Given the description of an element on the screen output the (x, y) to click on. 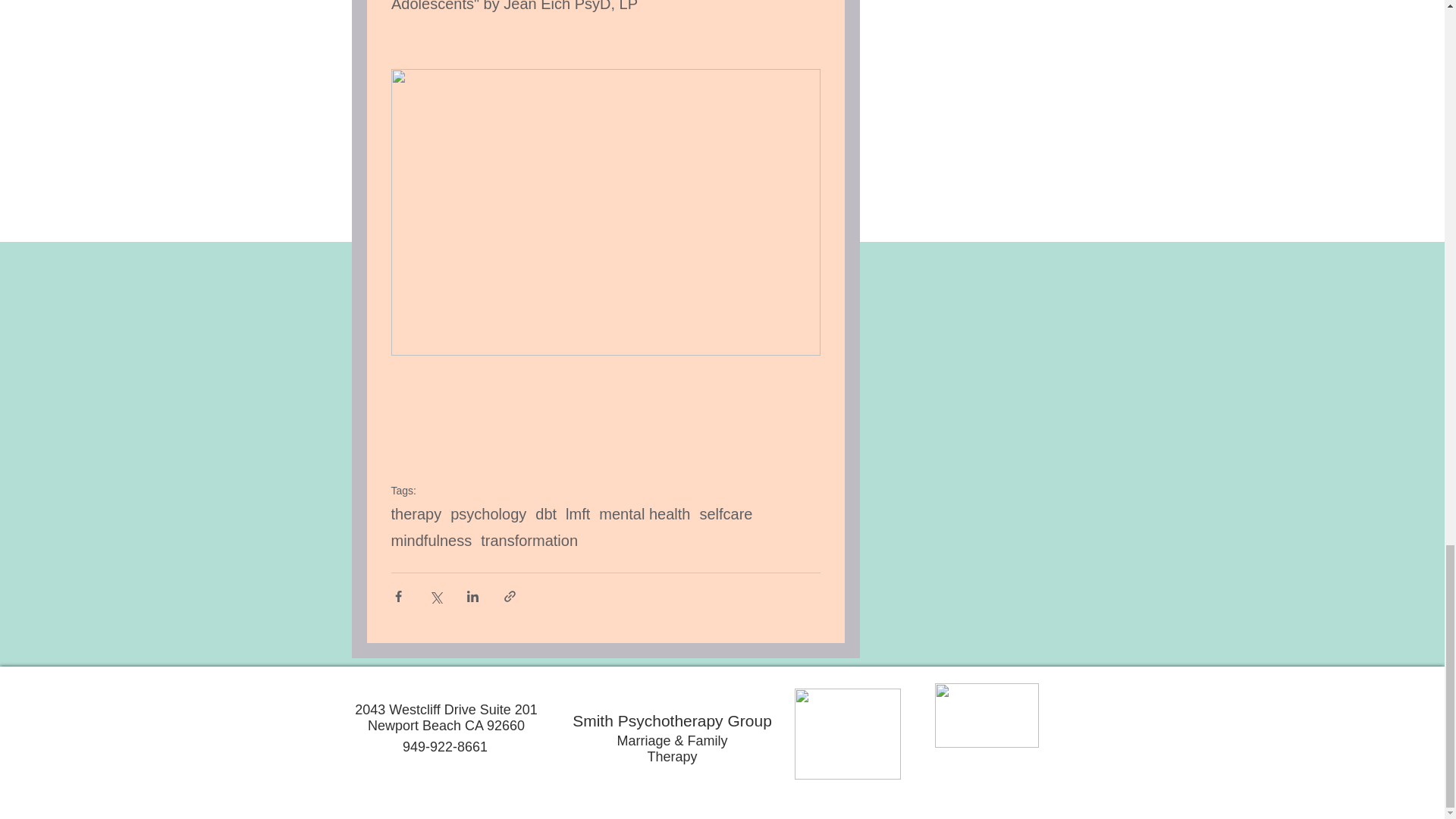
selfcare (725, 514)
mindfulness (431, 540)
transformation (529, 540)
psychology (487, 514)
lmft (577, 514)
dbt (545, 514)
therapy (416, 514)
mental health (644, 514)
